Given the description of an element on the screen output the (x, y) to click on. 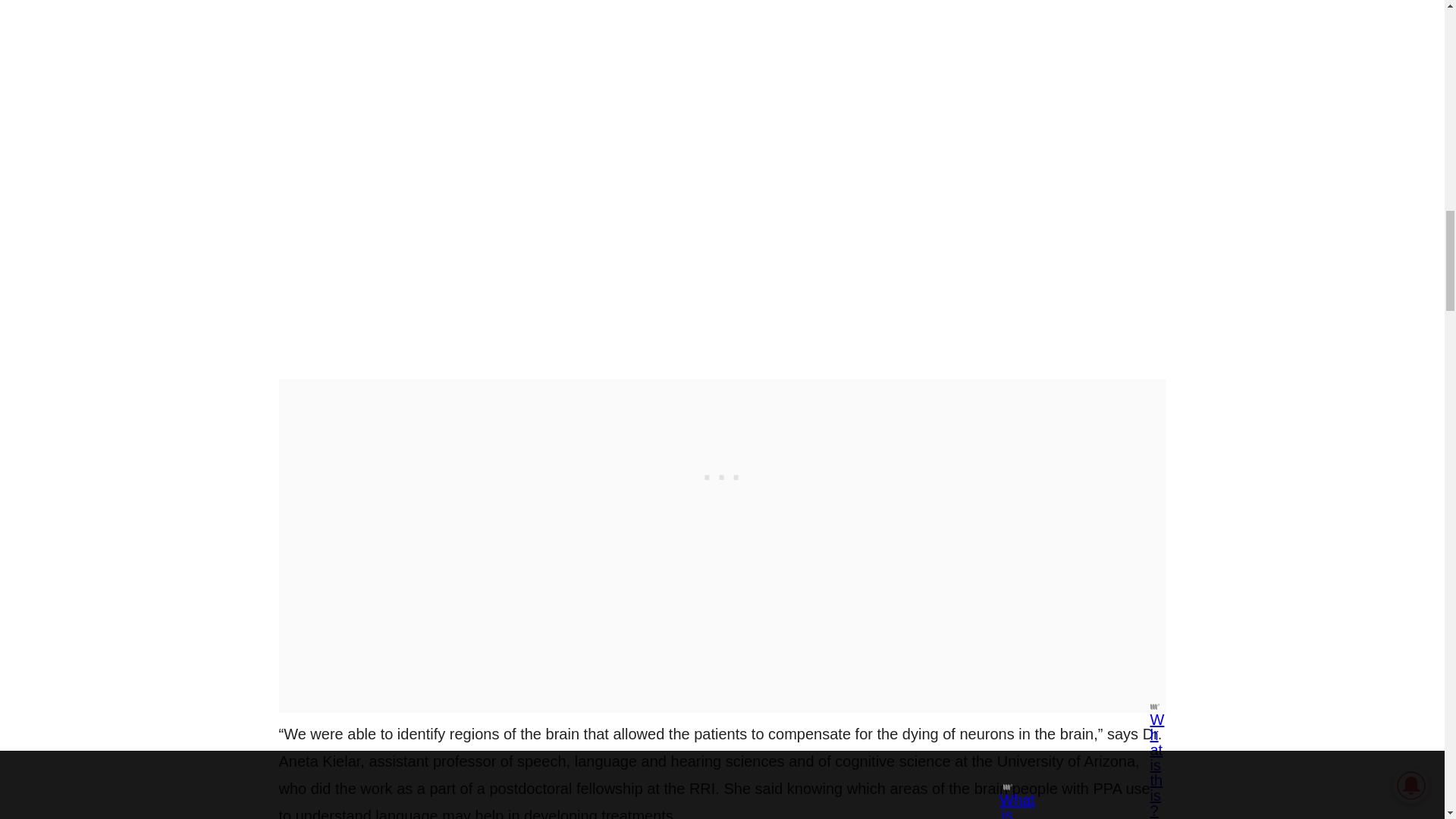
3rd party ad content (721, 473)
